Given the description of an element on the screen output the (x, y) to click on. 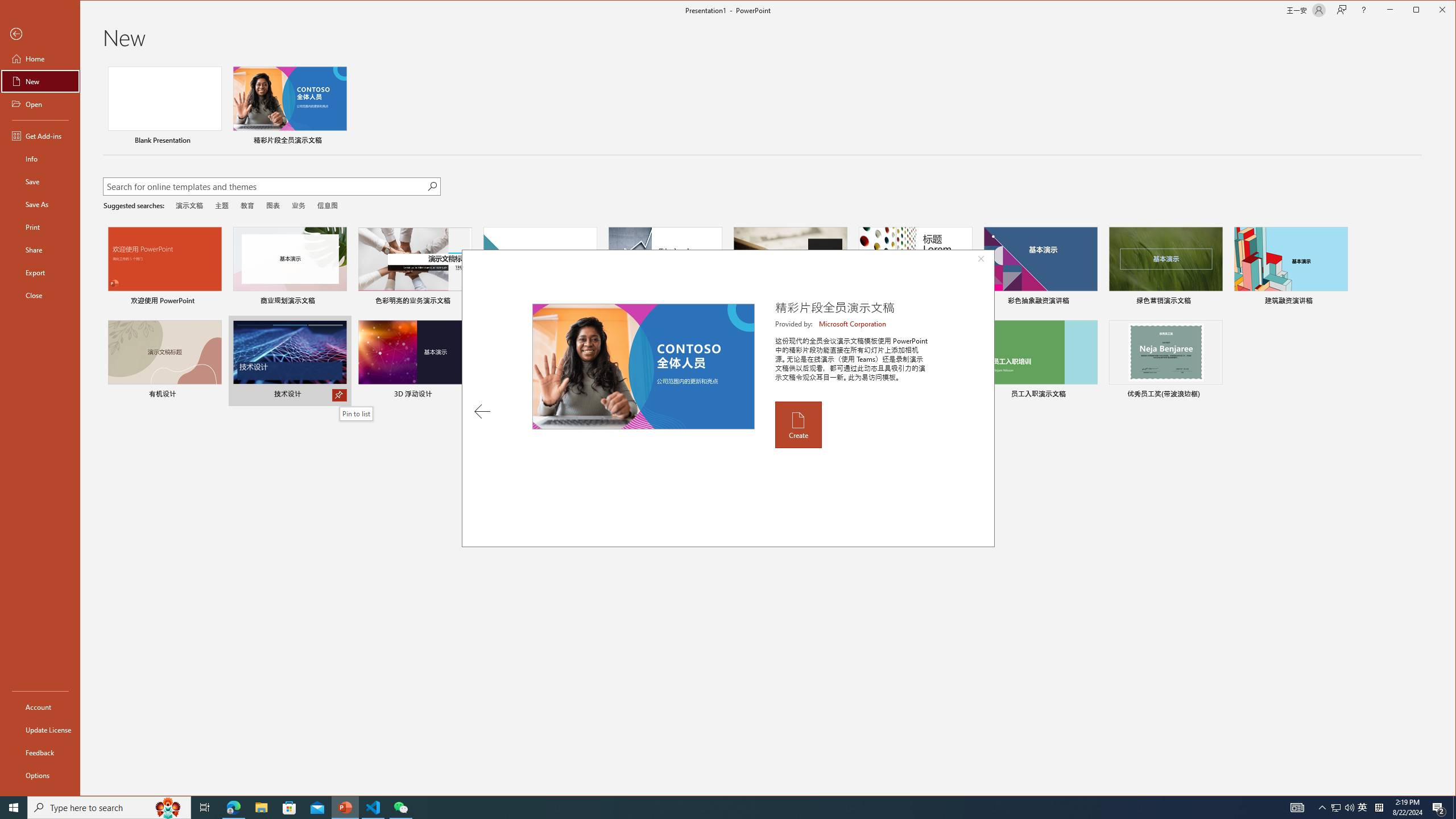
Previous Template (481, 411)
